Given the description of an element on the screen output the (x, y) to click on. 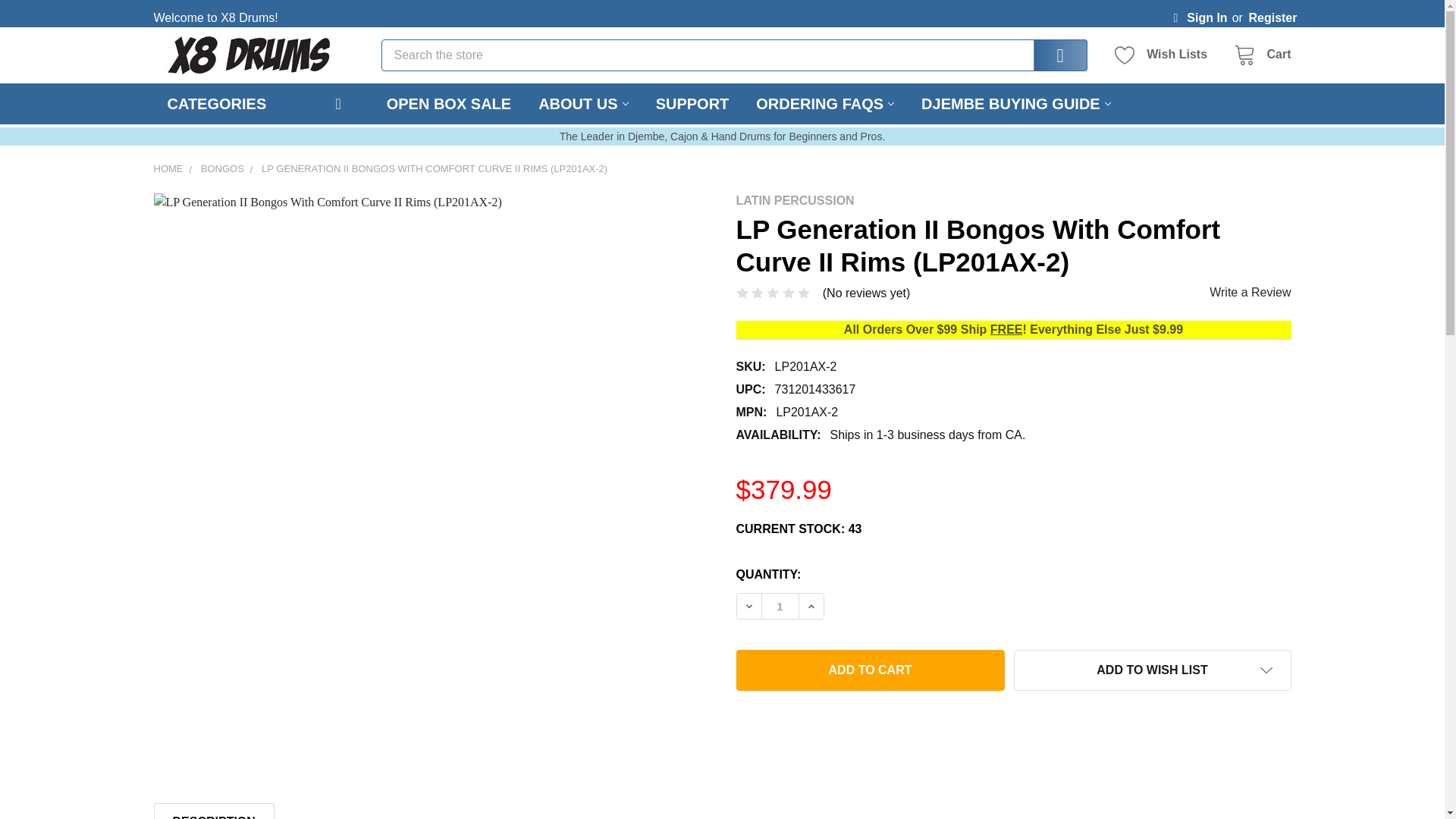
Wish Lists (1165, 54)
Wish Lists (1165, 54)
CATEGORIES (255, 103)
Search (1049, 55)
Add to Cart (869, 670)
X8Drums.com (247, 55)
Cart (1257, 54)
Register (1272, 13)
1 (779, 606)
Sign In (1199, 13)
